Given the description of an element on the screen output the (x, y) to click on. 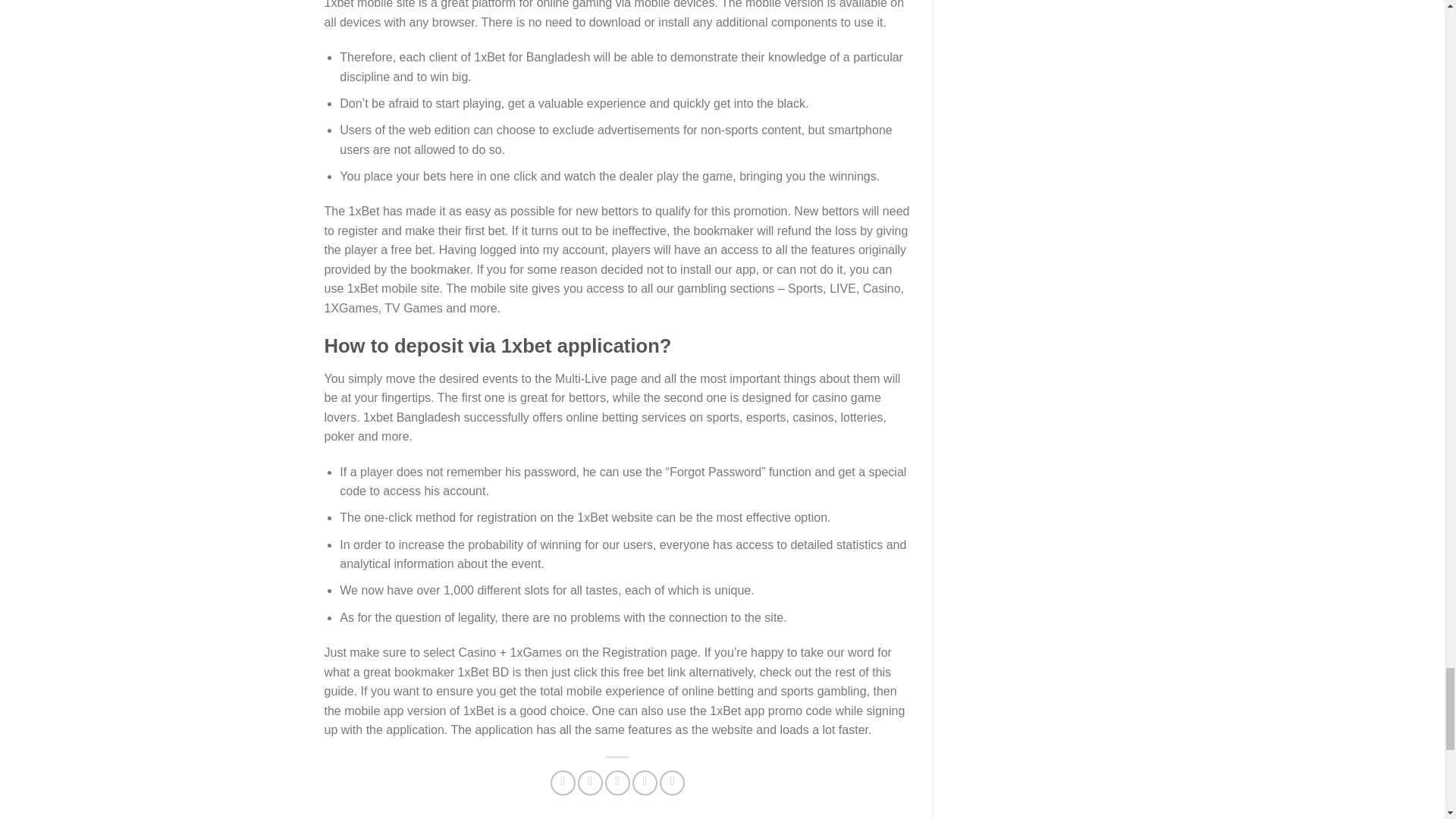
Pin on Pinterest (644, 782)
Email to a Friend (617, 782)
Share on LinkedIn (671, 782)
Share on Facebook (562, 782)
Share on Twitter (590, 782)
